Given the description of an element on the screen output the (x, y) to click on. 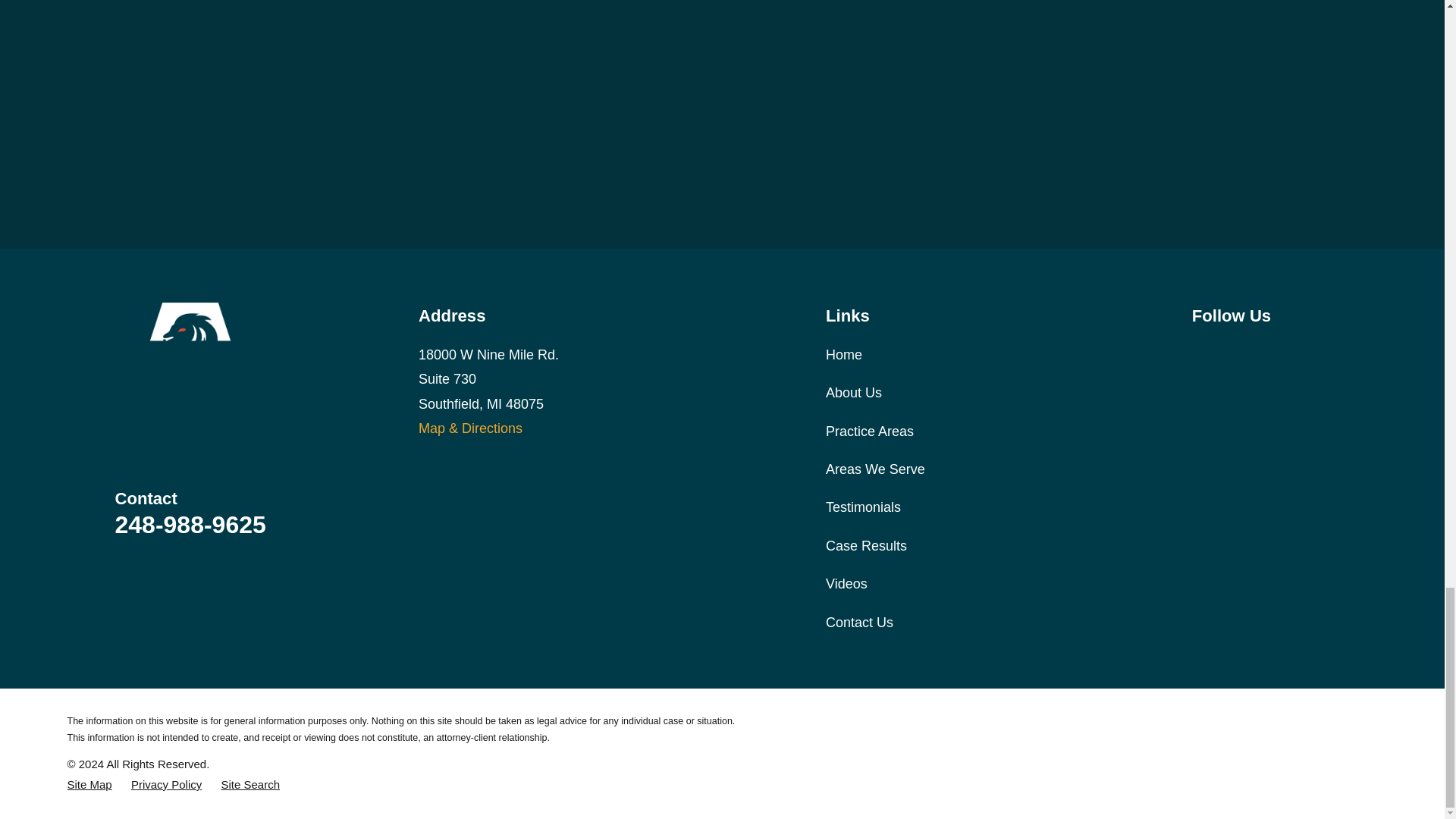
Instagram (1240, 352)
Facebook (1201, 352)
Home (190, 377)
YouTube (1280, 352)
